Given the description of an element on the screen output the (x, y) to click on. 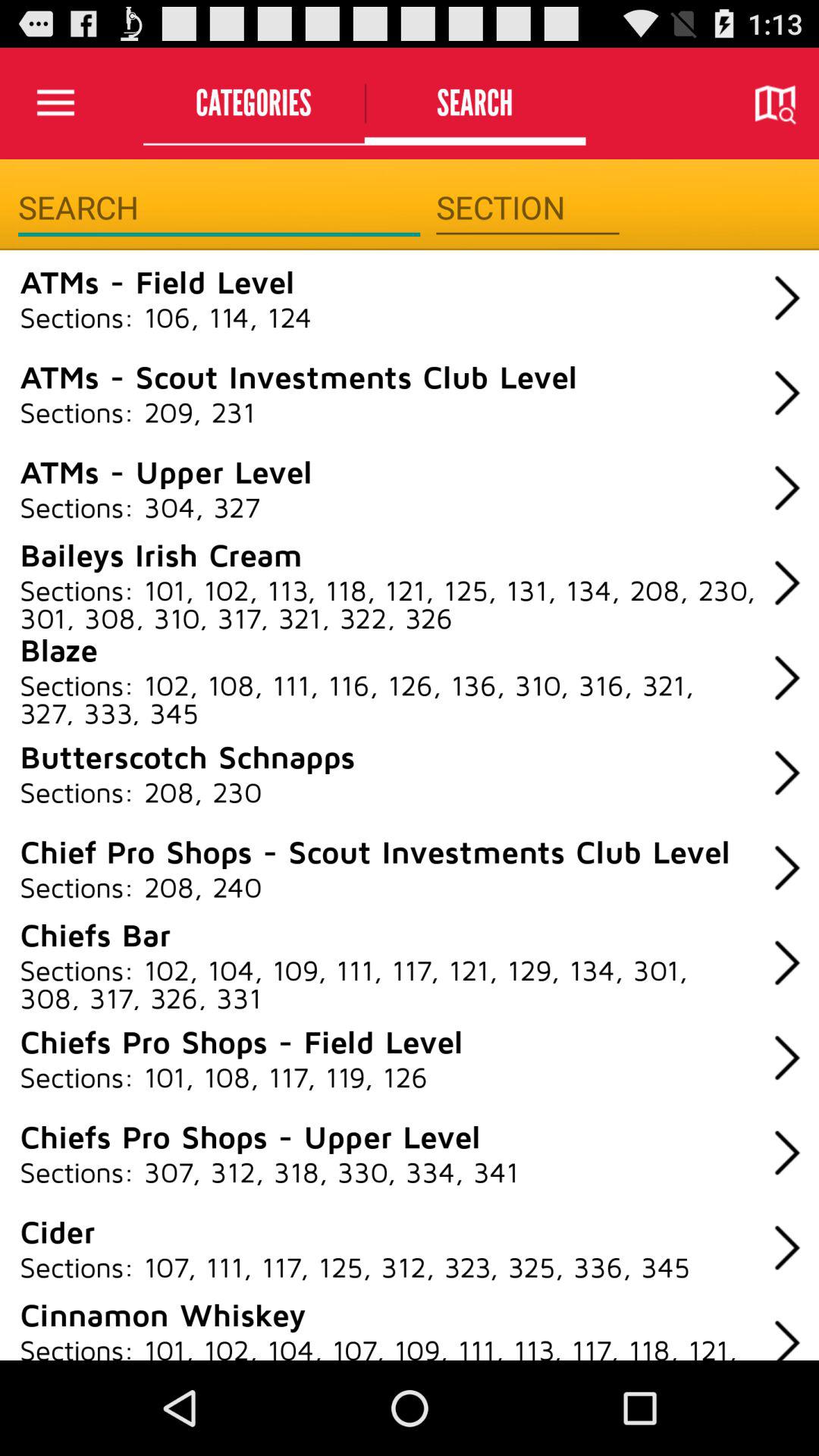
section button (527, 207)
